Given the description of an element on the screen output the (x, y) to click on. 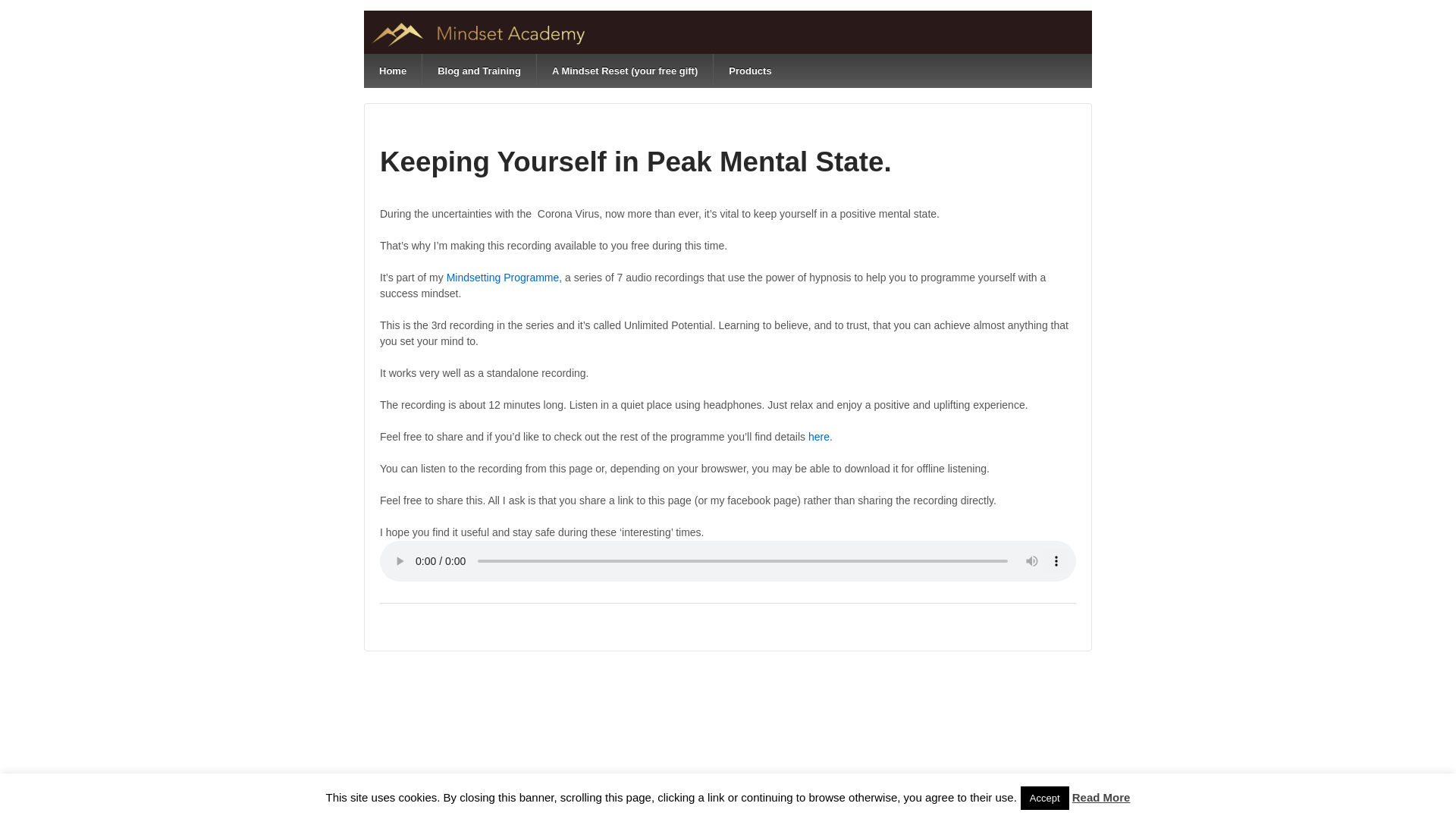
Blog and Training (478, 70)
Home (393, 70)
Products (749, 70)
Mindsetting Programme, (504, 277)
here (817, 436)
